Given the description of an element on the screen output the (x, y) to click on. 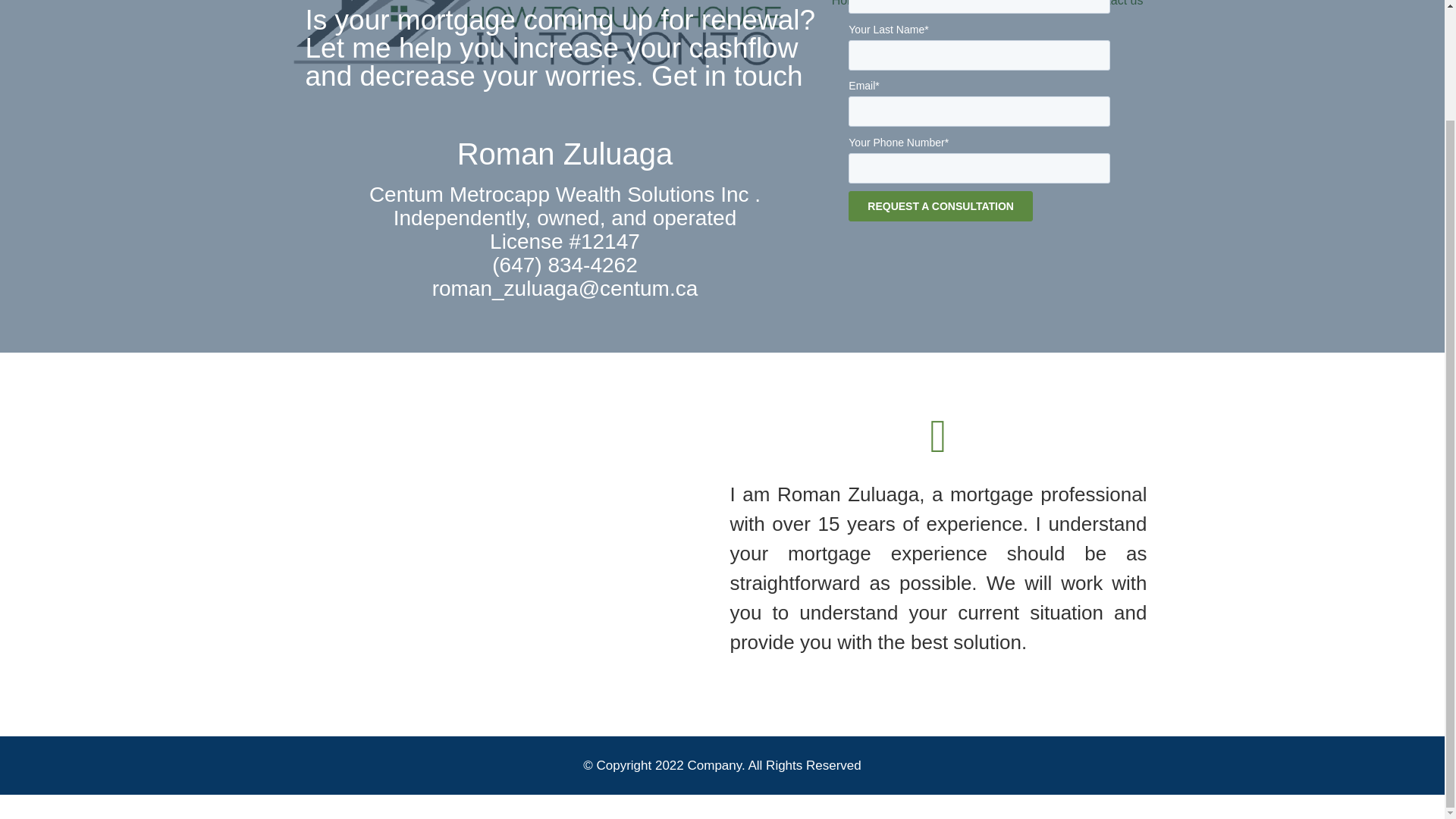
Blog (1050, 7)
REQUEST A CONSULTATION (940, 205)
About us (909, 7)
Home (848, 7)
Services (980, 7)
Contact us (1114, 7)
REQUEST A CONSULTATION (940, 205)
